Given the description of an element on the screen output the (x, y) to click on. 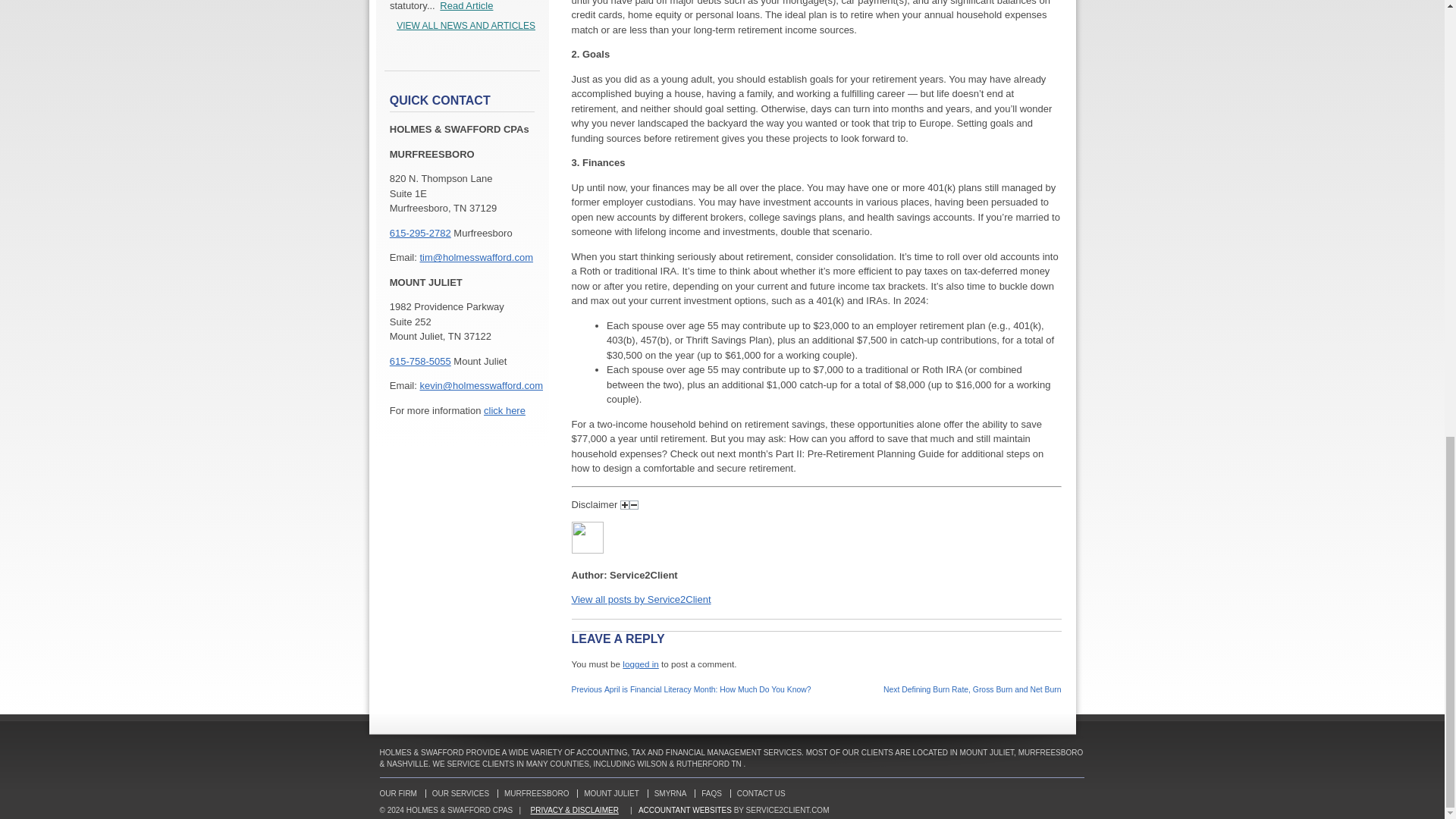
logged in (640, 664)
View all posts by Service2Client (641, 599)
